Given the description of an element on the screen output the (x, y) to click on. 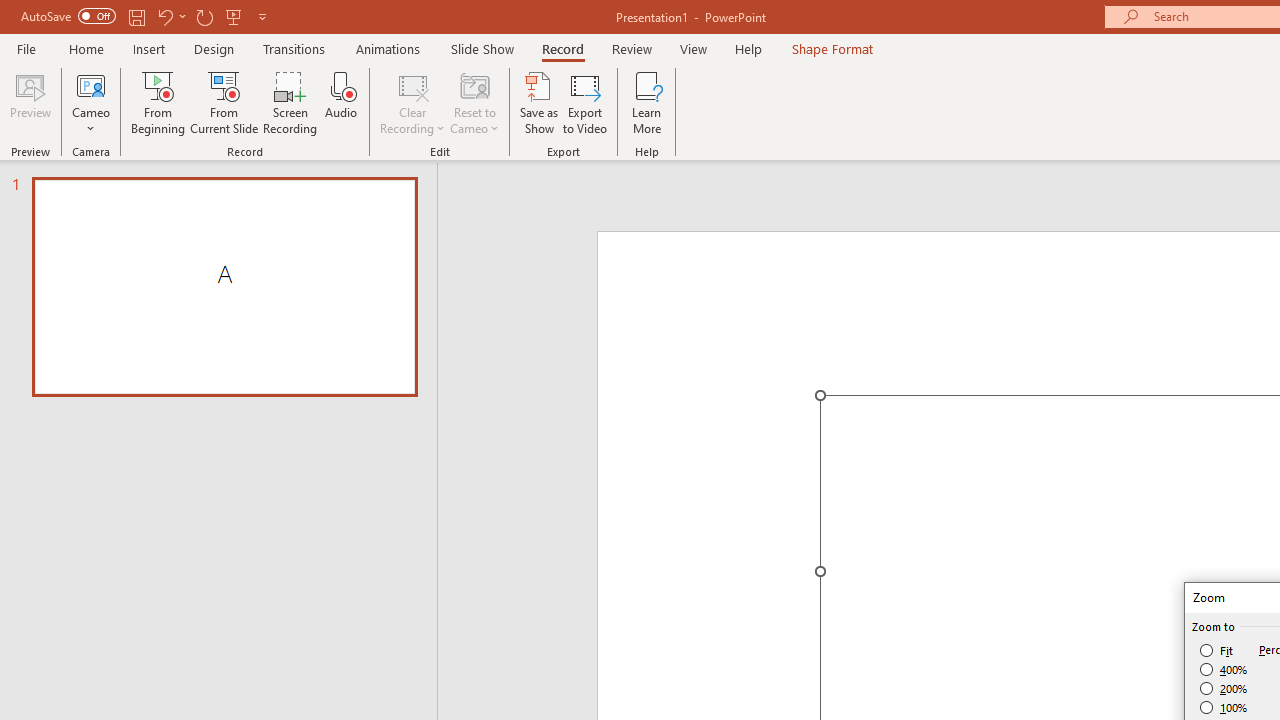
200% (1224, 688)
100% (1224, 707)
